Given the description of an element on the screen output the (x, y) to click on. 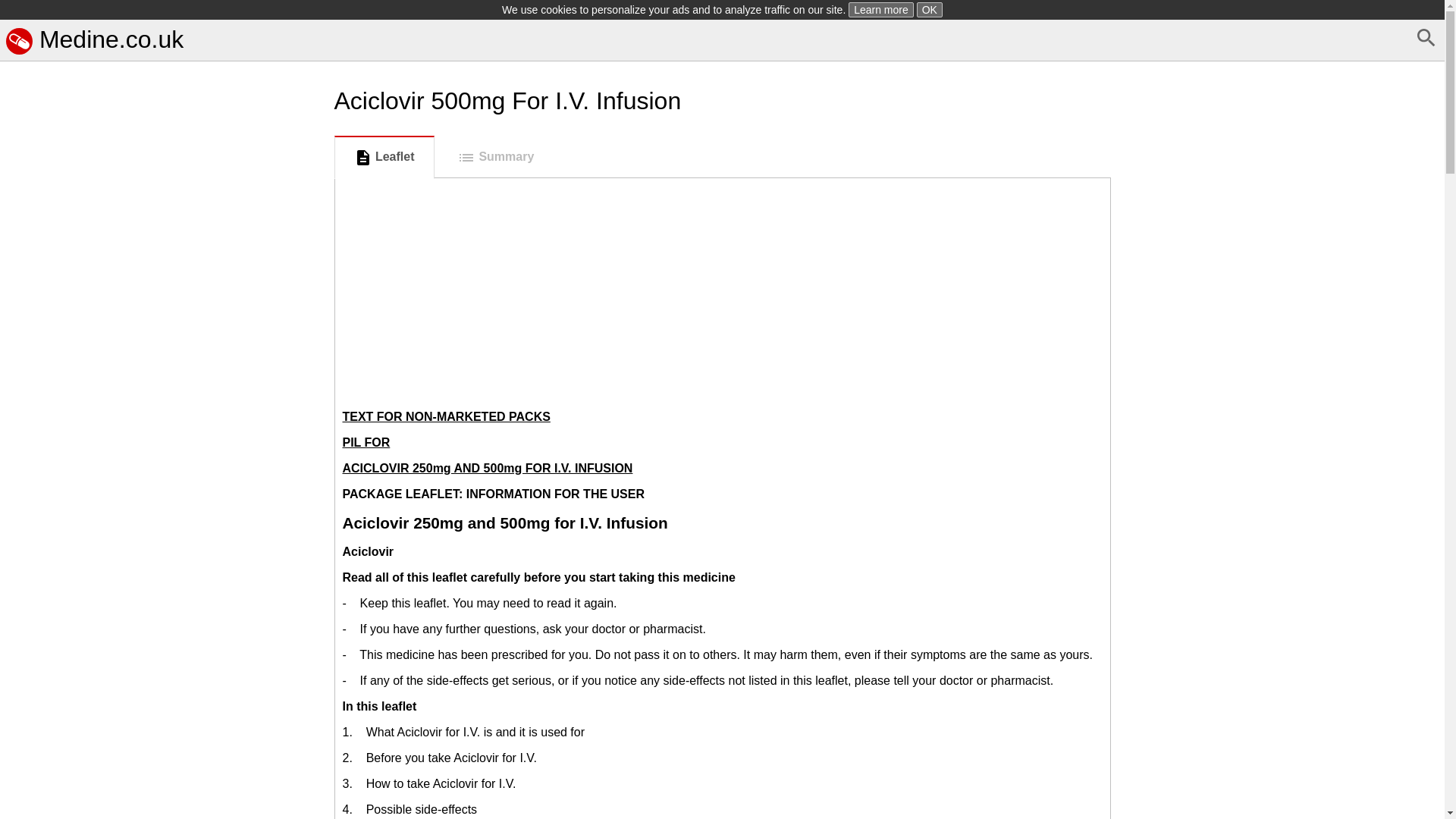
Summary (495, 157)
Medine.co.uk (94, 39)
OK (929, 9)
Learn more (881, 9)
Advertisement (164, 729)
Leaflet (383, 157)
